Given the description of an element on the screen output the (x, y) to click on. 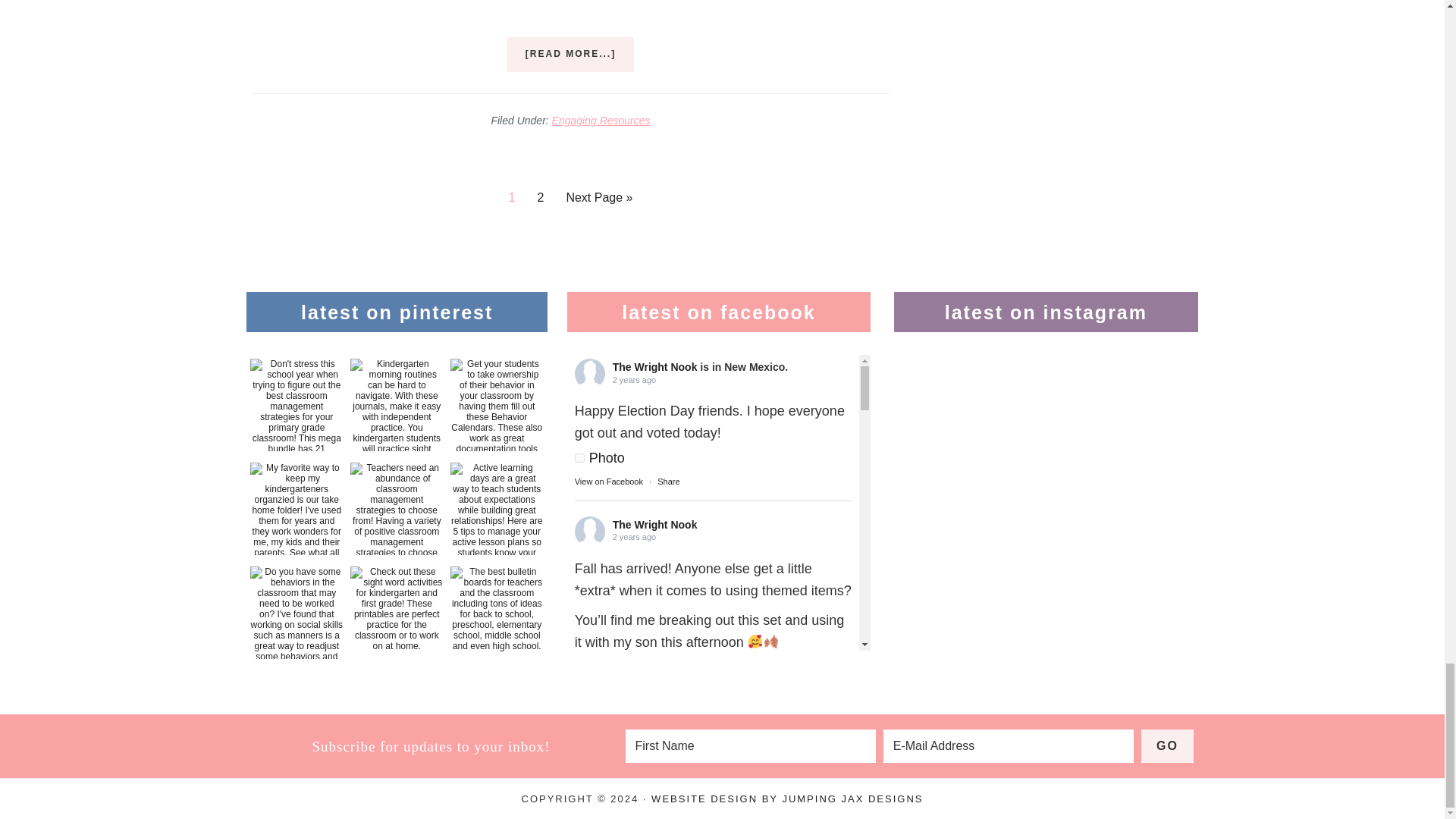
Go (1167, 745)
